Given the description of an element on the screen output the (x, y) to click on. 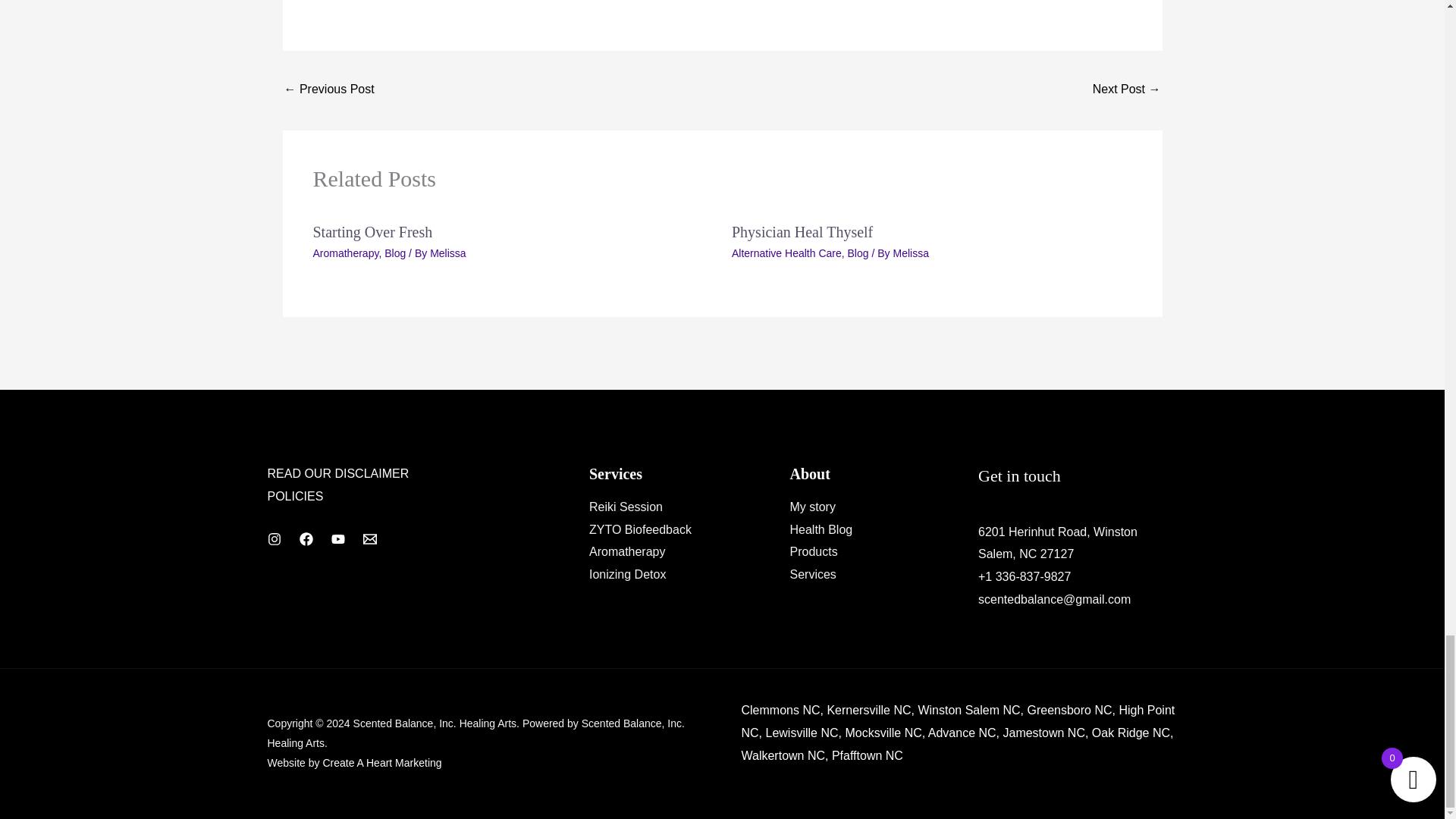
Clutter, Clutter Everywhere and No Place To Put It (1126, 90)
View all posts by Melissa (910, 253)
Vaginal Dryness - Nothing To Laugh At (328, 90)
View all posts by Melissa (447, 253)
